Given the description of an element on the screen output the (x, y) to click on. 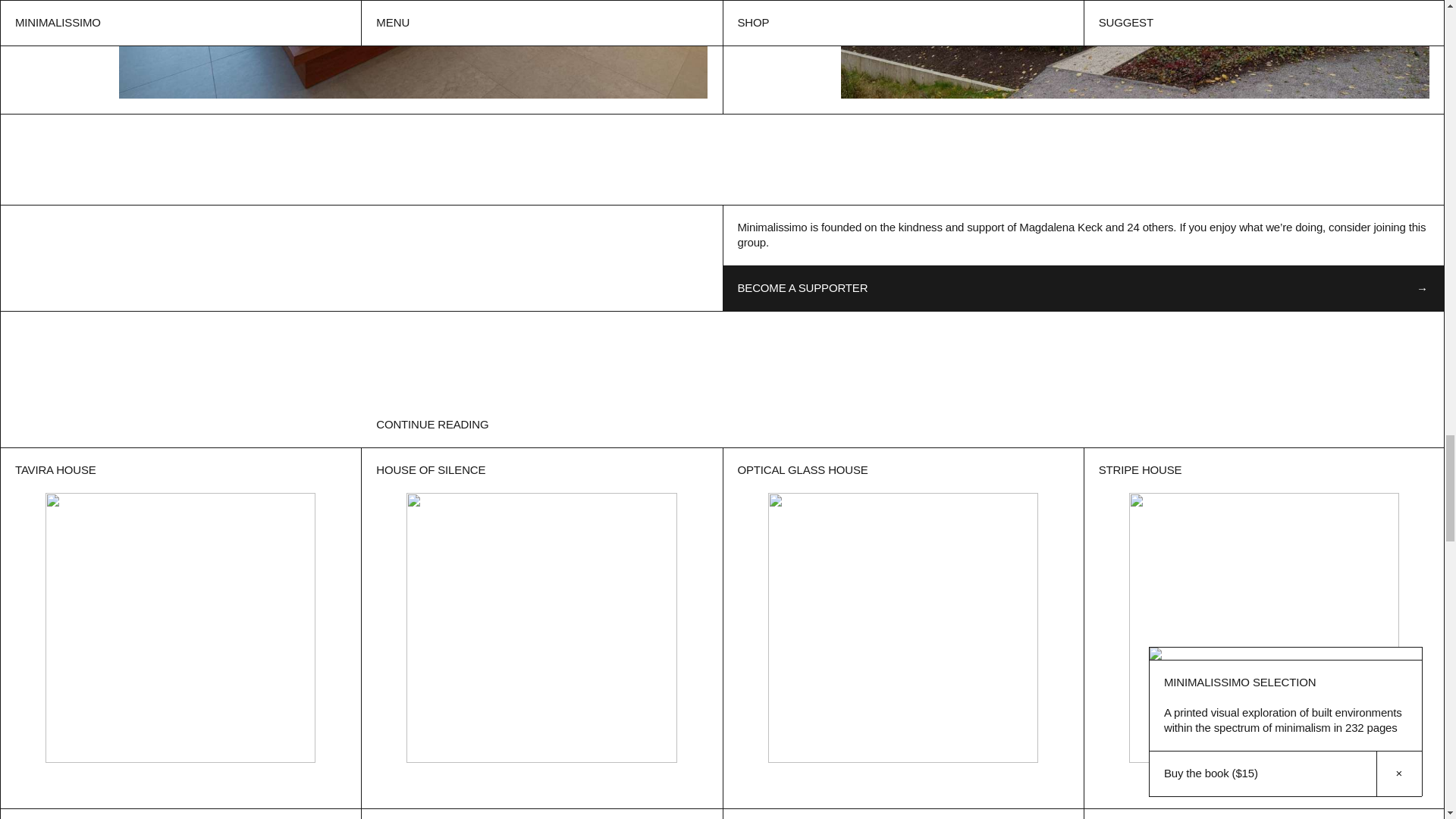
ASCO VISITOR CENTER (180, 813)
OPTICAL GLASS HOUSE (902, 627)
HOUSE OF SILENCE (541, 627)
TAVIRA HOUSE (180, 627)
